Given the description of an element on the screen output the (x, y) to click on. 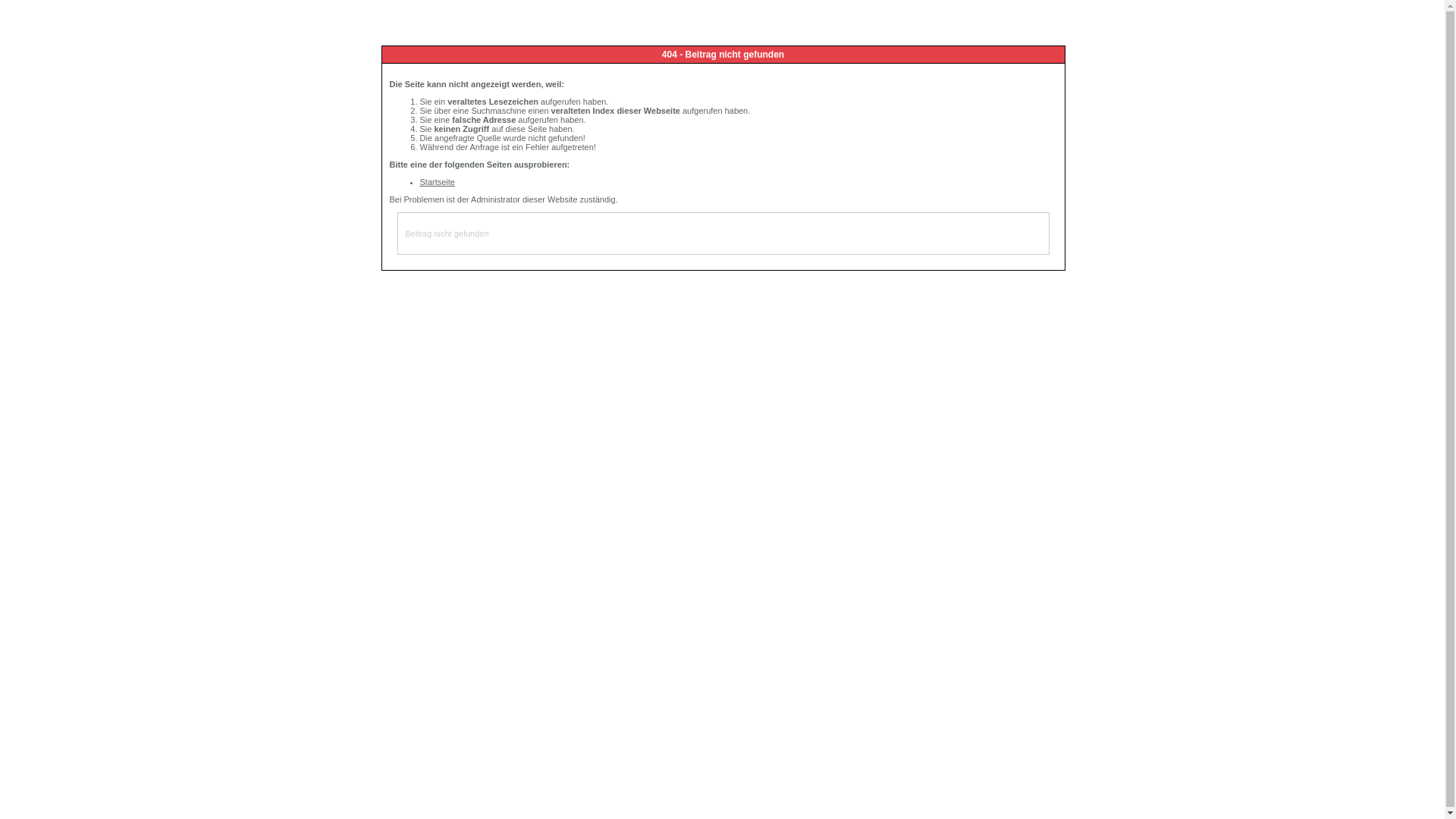
Startseite Element type: text (437, 181)
